Given the description of an element on the screen output the (x, y) to click on. 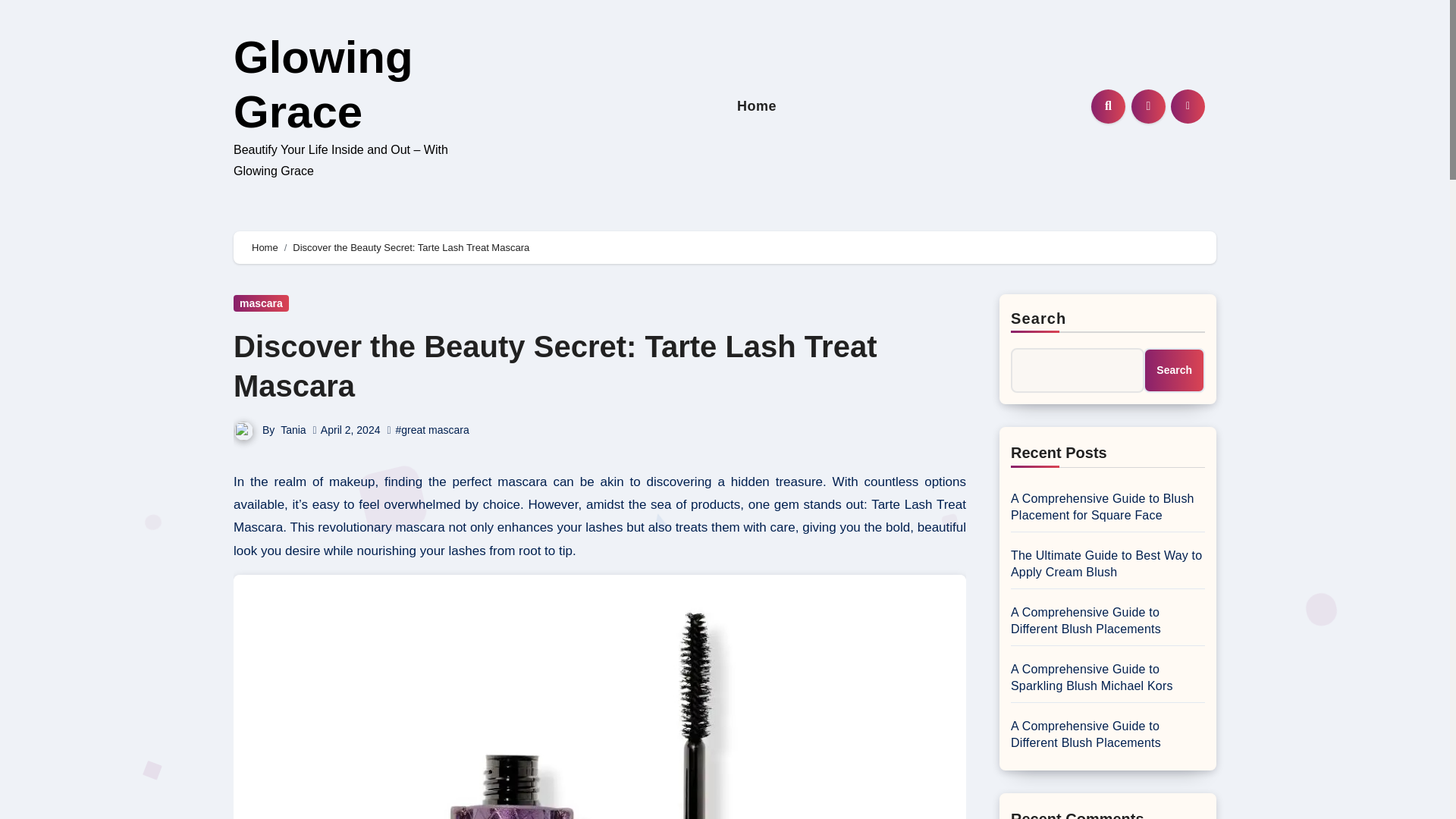
Discover the Beauty Secret: Tarte Lash Treat Mascara (554, 366)
Home (756, 106)
Home (756, 106)
April 2, 2024 (350, 429)
Glowing Grace (322, 84)
mascara (260, 303)
Tania (293, 429)
Home (264, 247)
